Given the description of an element on the screen output the (x, y) to click on. 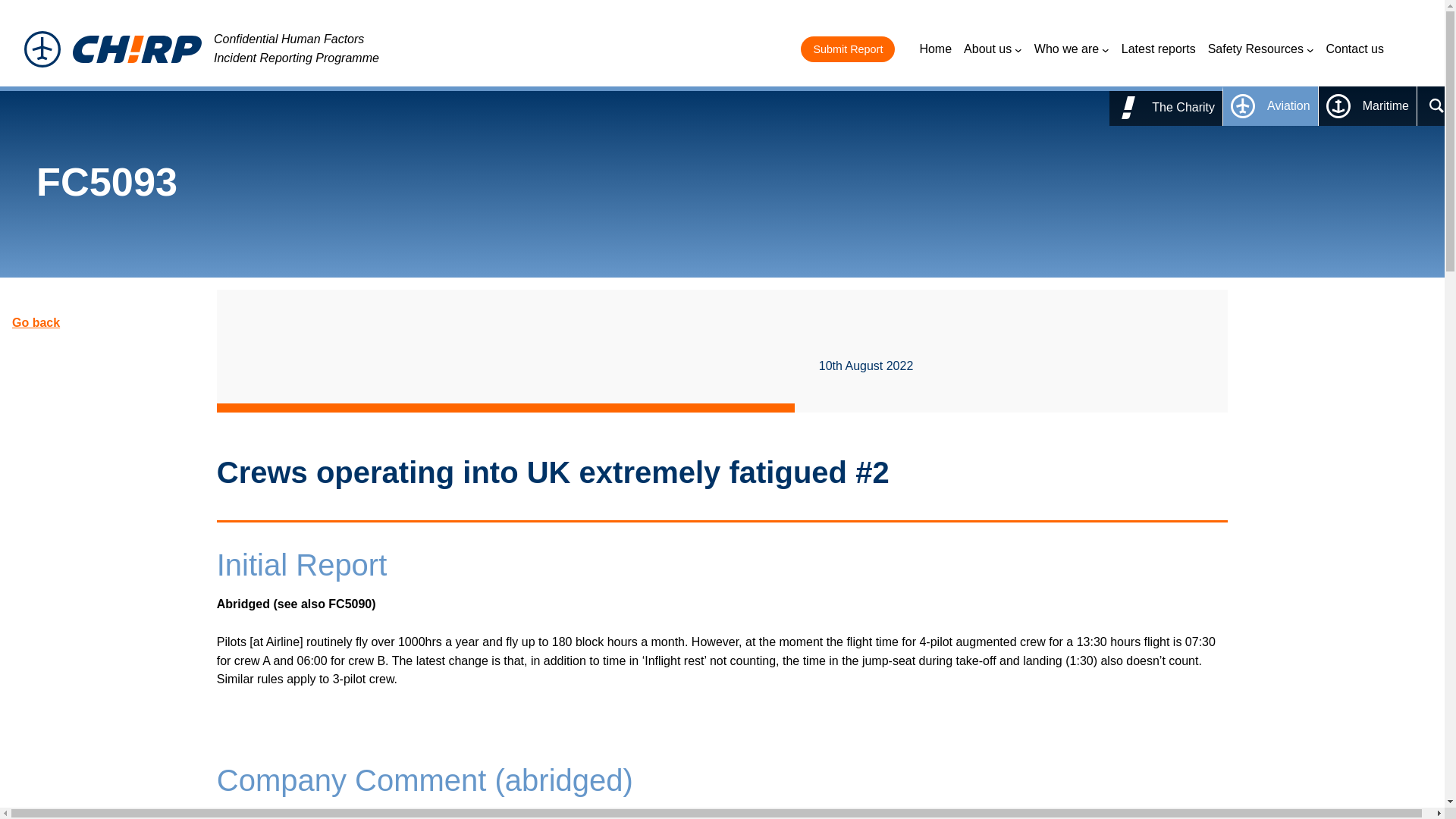
Contact us (1355, 49)
Safety Resources (1261, 49)
Home (935, 49)
Submit Report (847, 49)
Who we are (1071, 49)
About us (992, 49)
Latest reports (1158, 49)
